Given the description of an element on the screen output the (x, y) to click on. 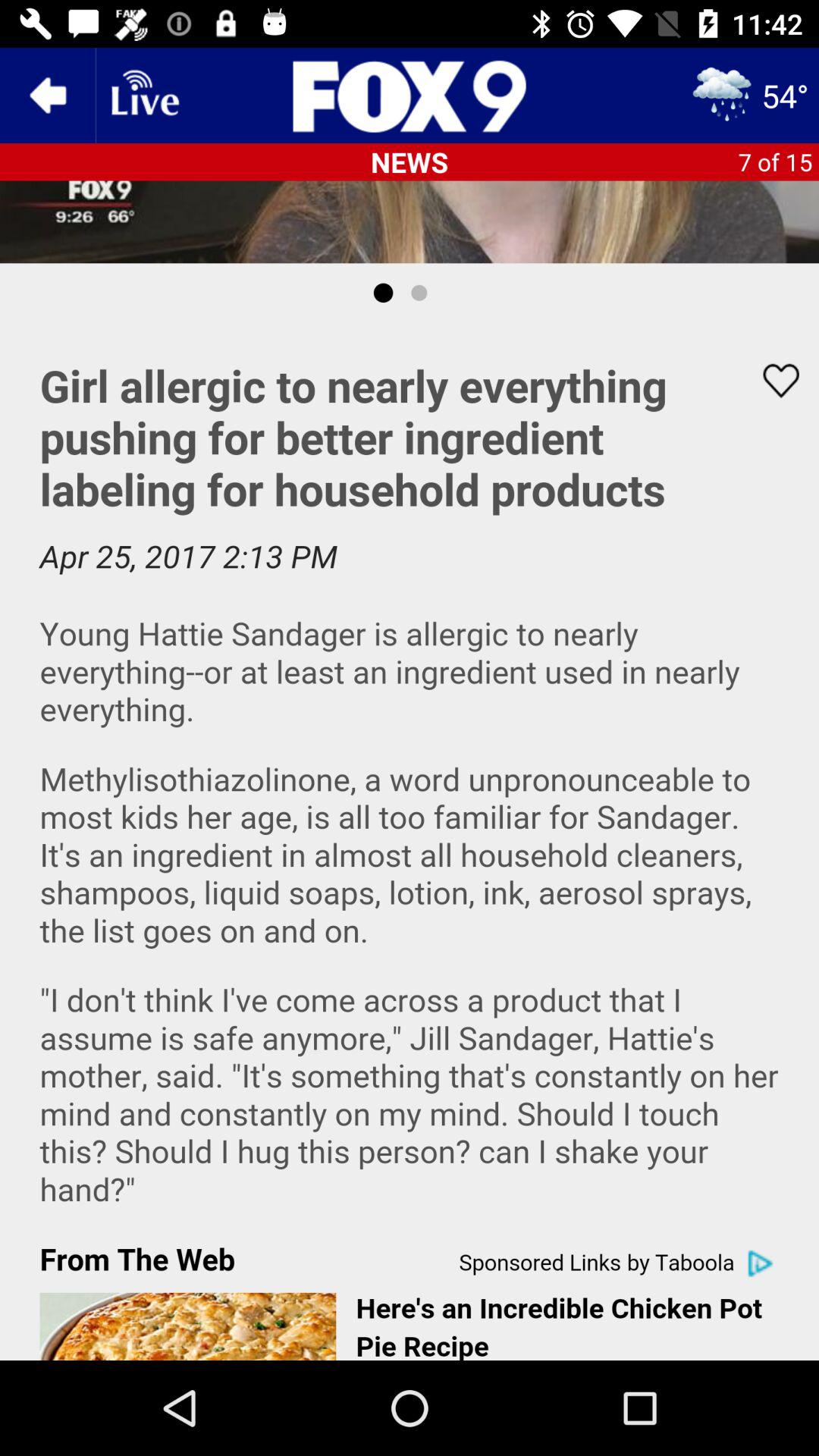
goes back (47, 95)
